Given the description of an element on the screen output the (x, y) to click on. 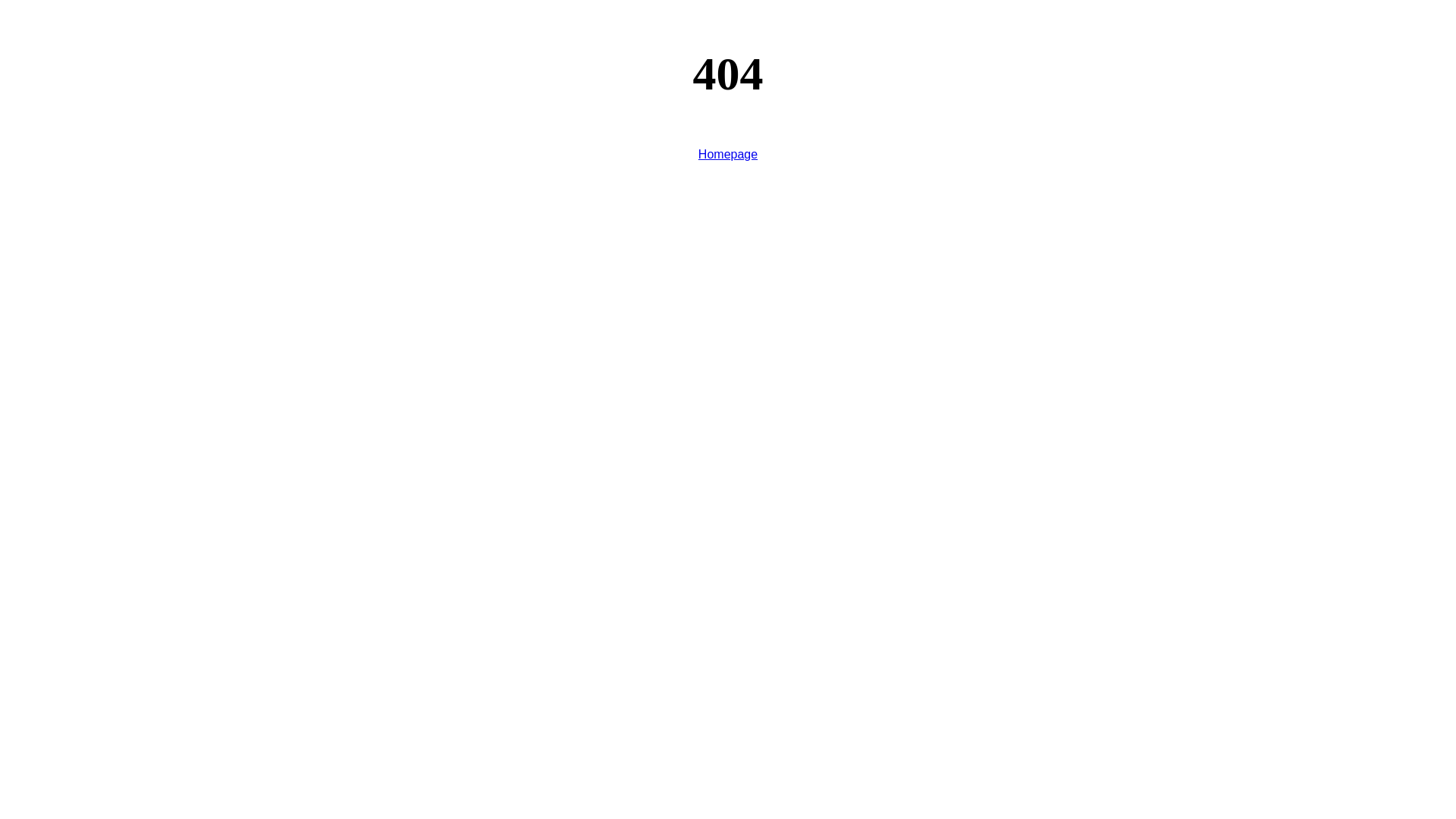
Homepage Element type: text (727, 153)
